Given the description of an element on the screen output the (x, y) to click on. 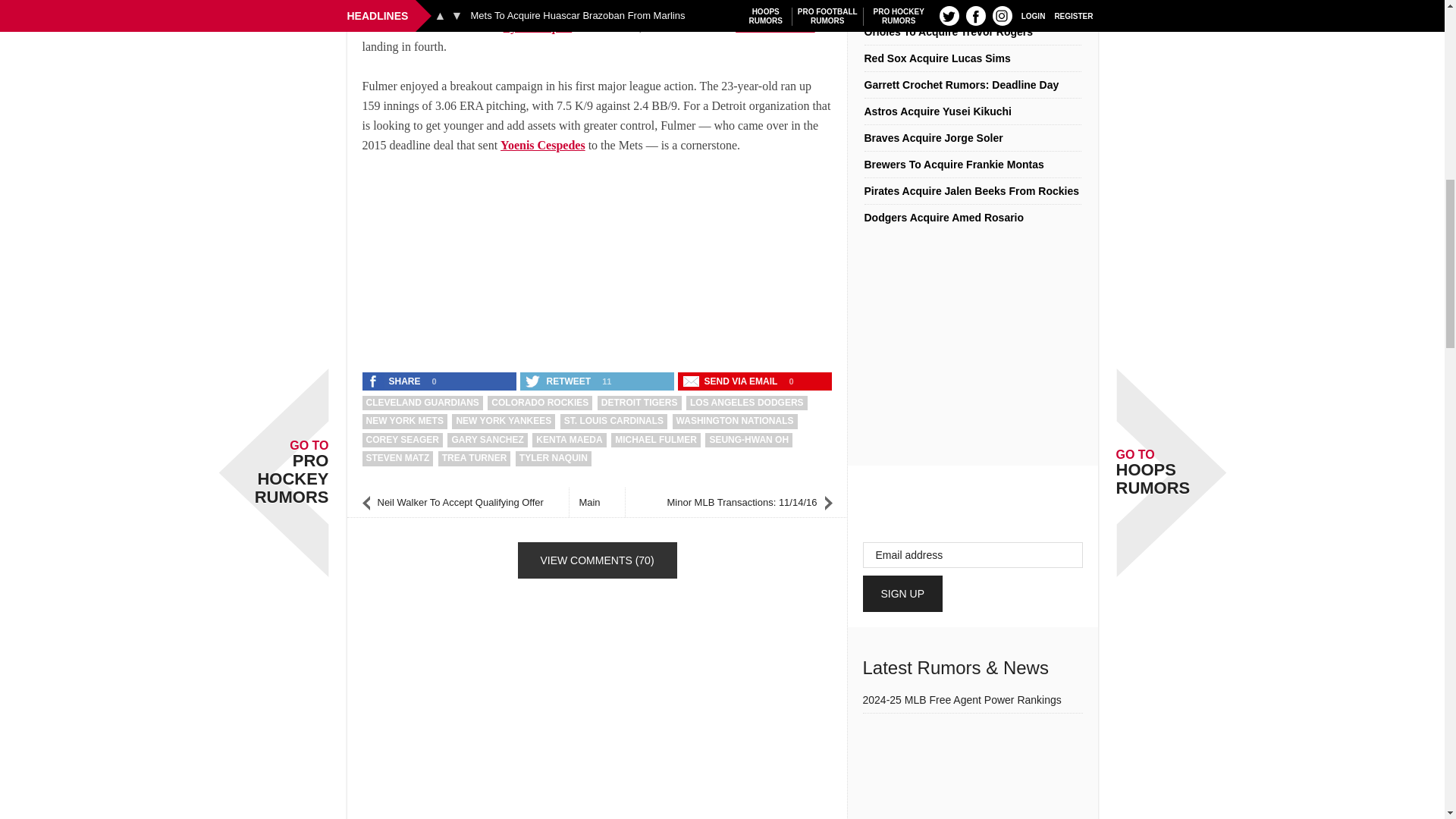
Sign Up (903, 593)
